Given the description of an element on the screen output the (x, y) to click on. 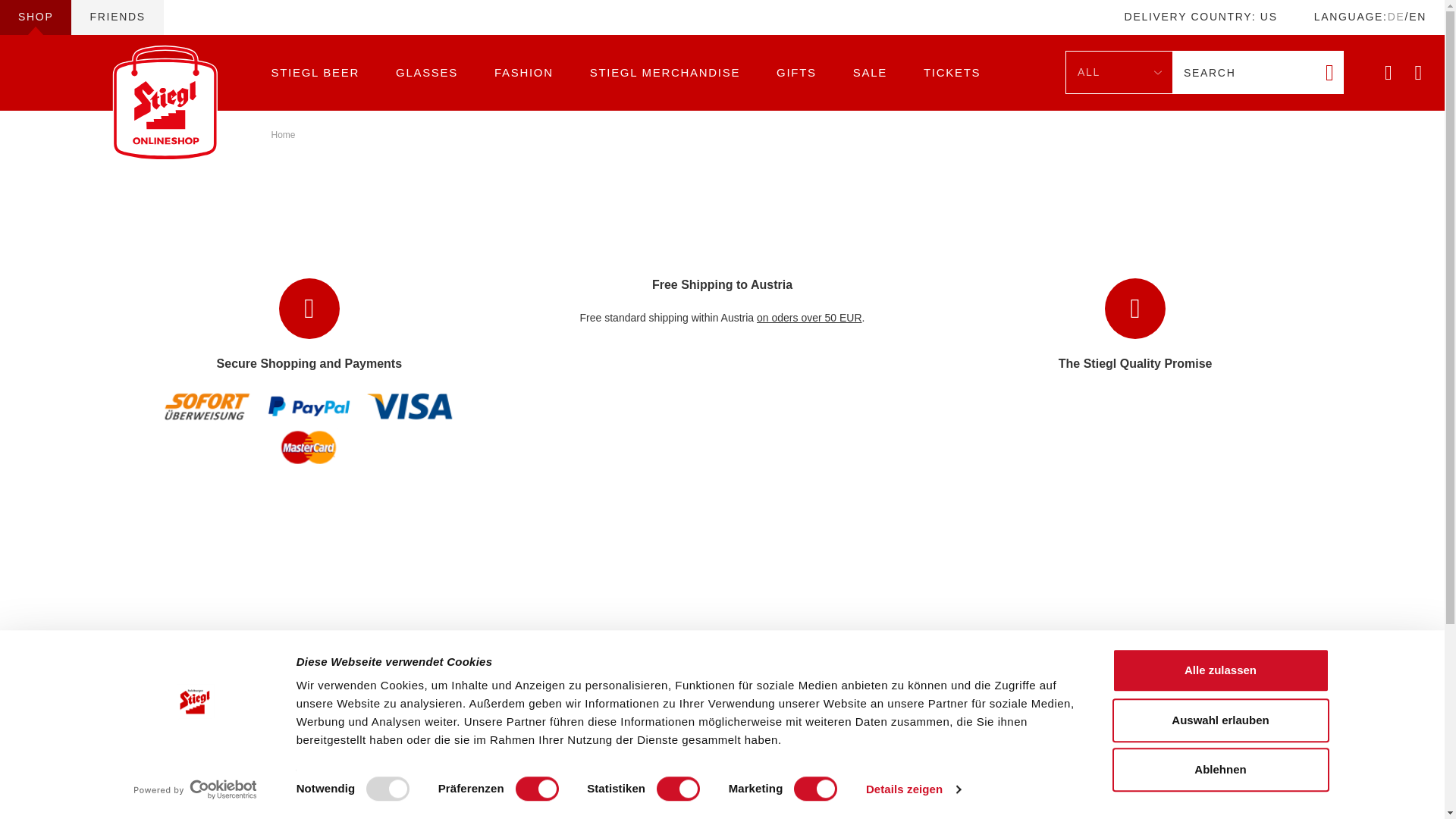
Details zeigen (913, 789)
Search (1244, 72)
